Given the description of an element on the screen output the (x, y) to click on. 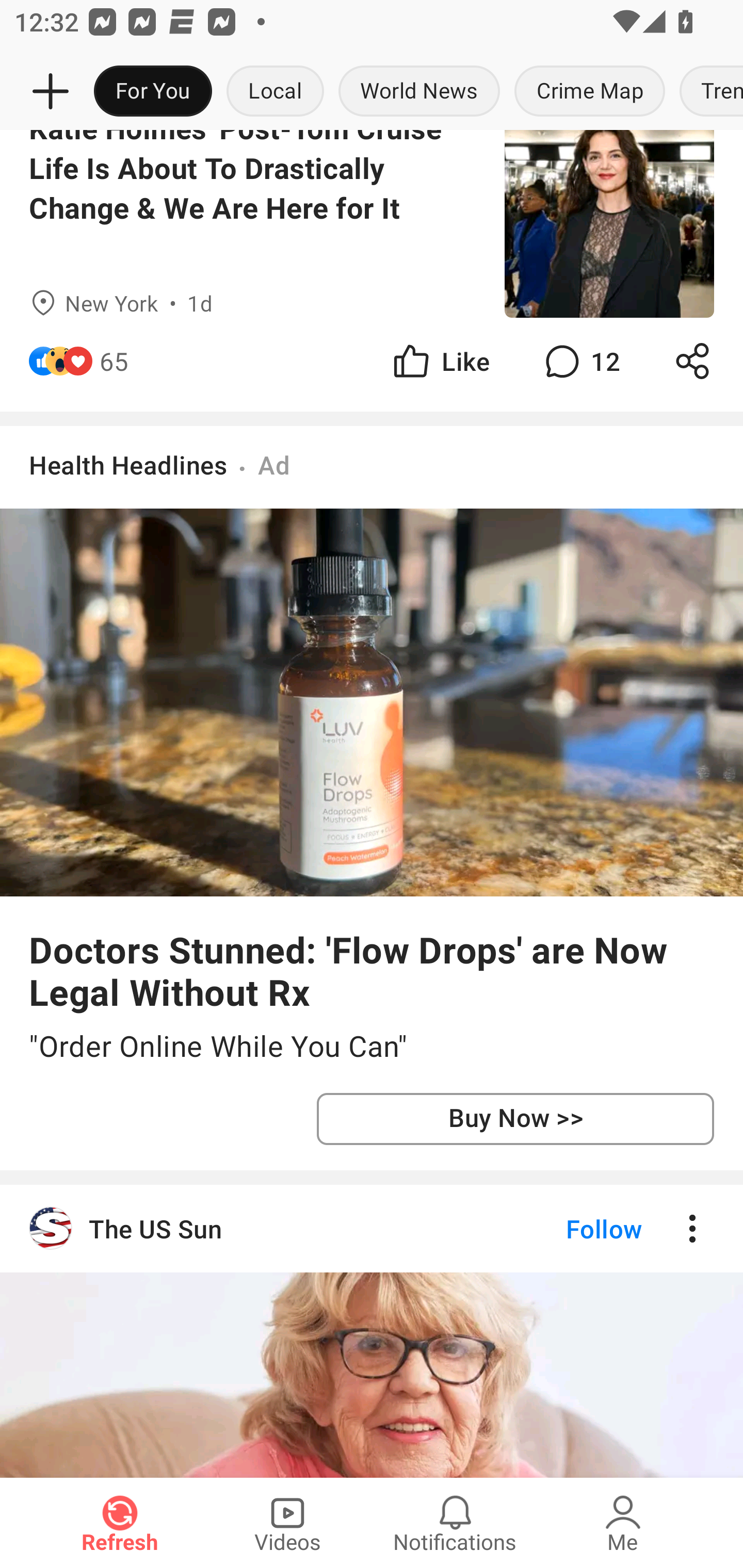
For You (152, 91)
Local (275, 91)
World News (419, 91)
Crime Map (589, 91)
65 (113, 361)
Like (439, 361)
12 (579, 361)
Health Headlines (127, 464)
"Order Online While You Can" (371, 1047)
Buy Now >> (515, 1118)
The US Sun  Follow (371, 1229)
Follow (569, 1229)
Videos (287, 1522)
Notifications (455, 1522)
Me (622, 1522)
